Given the description of an element on the screen output the (x, y) to click on. 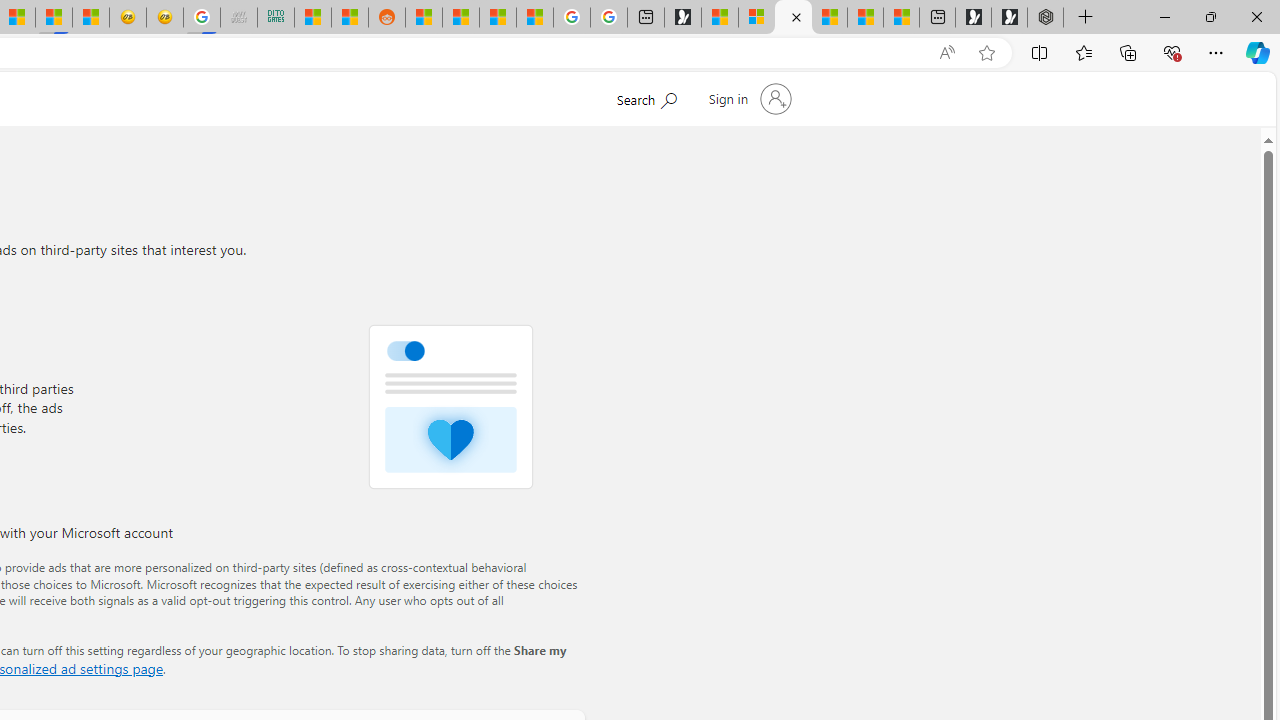
Sign in to your account (748, 98)
These 3 Stocks Pay You More Than 5% to Own Them (901, 17)
R******* | Trusted Community Engagement and Contributions (423, 17)
